Given the description of an element on the screen output the (x, y) to click on. 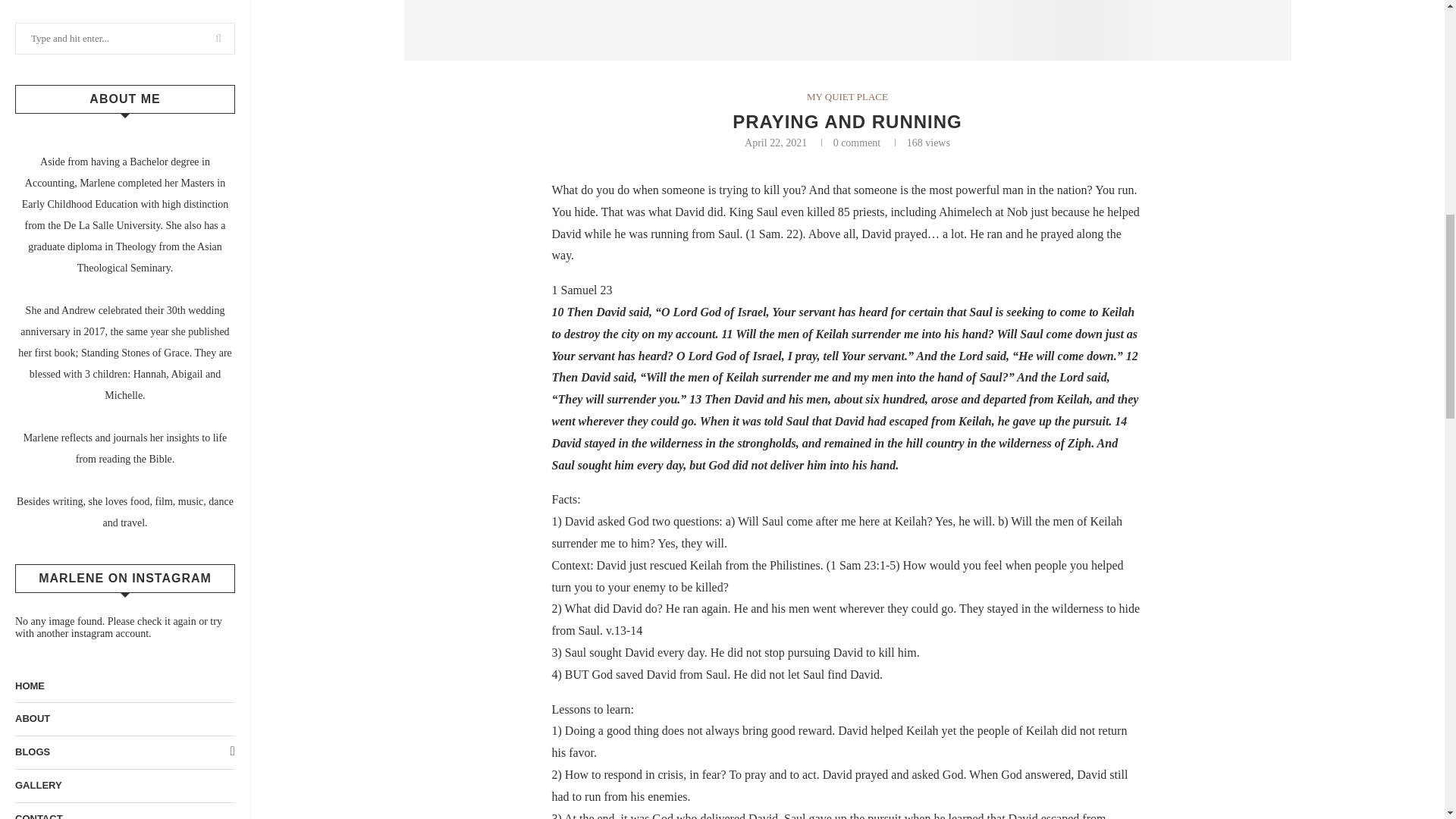
MY QUIET PLACE (847, 96)
CONTACT (124, 8)
919d1d8b834347bf87a18cb8903f72e3 (846, 30)
